Given the description of an element on the screen output the (x, y) to click on. 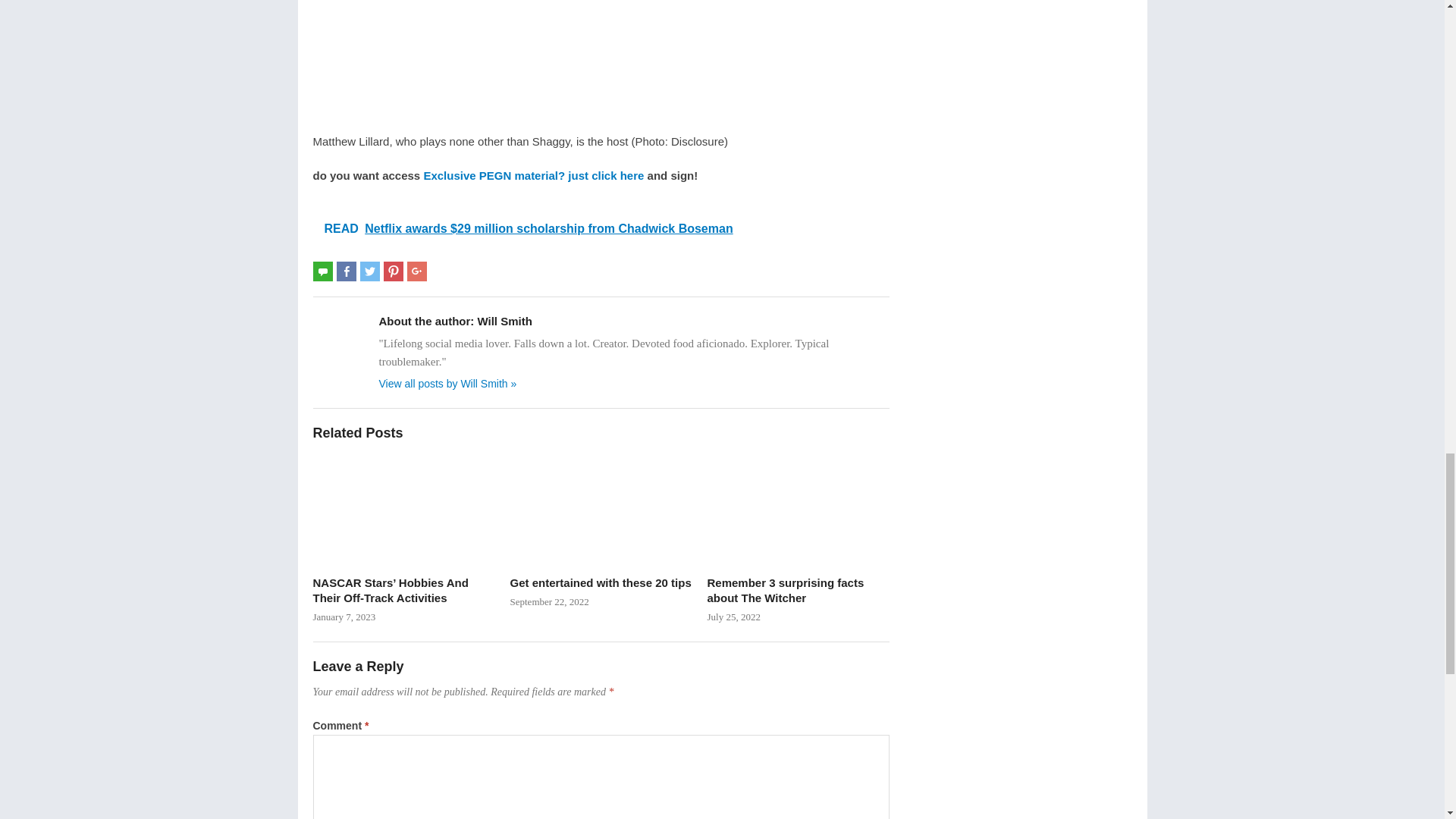
Get entertained with these 20 tips (600, 510)
Remember 3 surprising facts about The Witcher (797, 510)
Share on Facebook (346, 270)
Share on Pinterest (393, 270)
Exclusive PEGN material? just click here (533, 174)
Share on Twitter (369, 270)
